Given the description of an element on the screen output the (x, y) to click on. 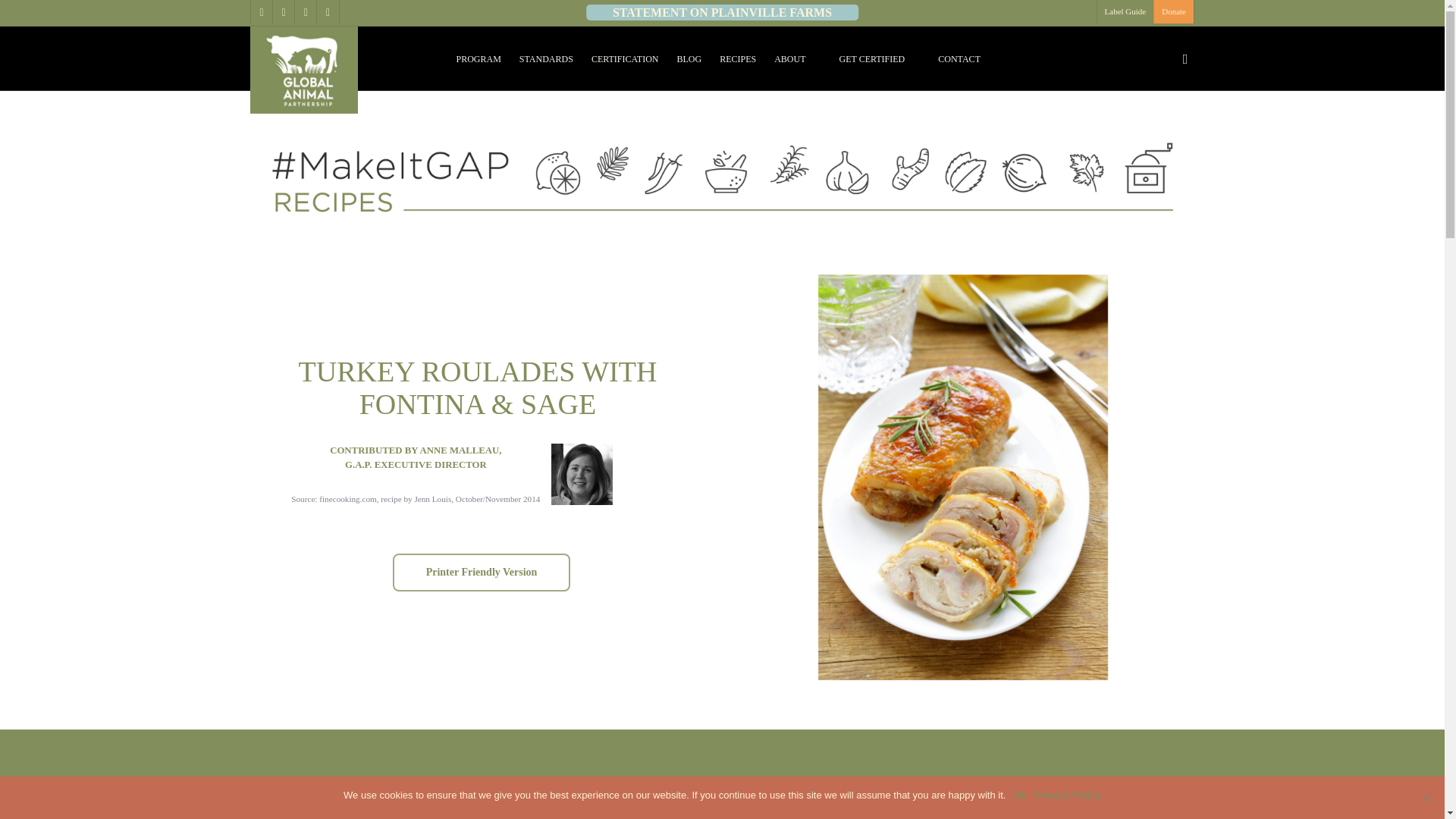
ABOUT (789, 58)
facebook (283, 12)
linkedin (304, 12)
No (1425, 797)
RECIPES (737, 58)
PROGRAM (477, 58)
Donate (1173, 11)
instagram (326, 12)
CERTIFICATION (625, 58)
STATEMENT ON PLAINVILLE FARMS (722, 12)
twitter (261, 12)
Label Guide (1125, 11)
STANDARDS (546, 58)
BLOG (689, 58)
